Given the description of an element on the screen output the (x, y) to click on. 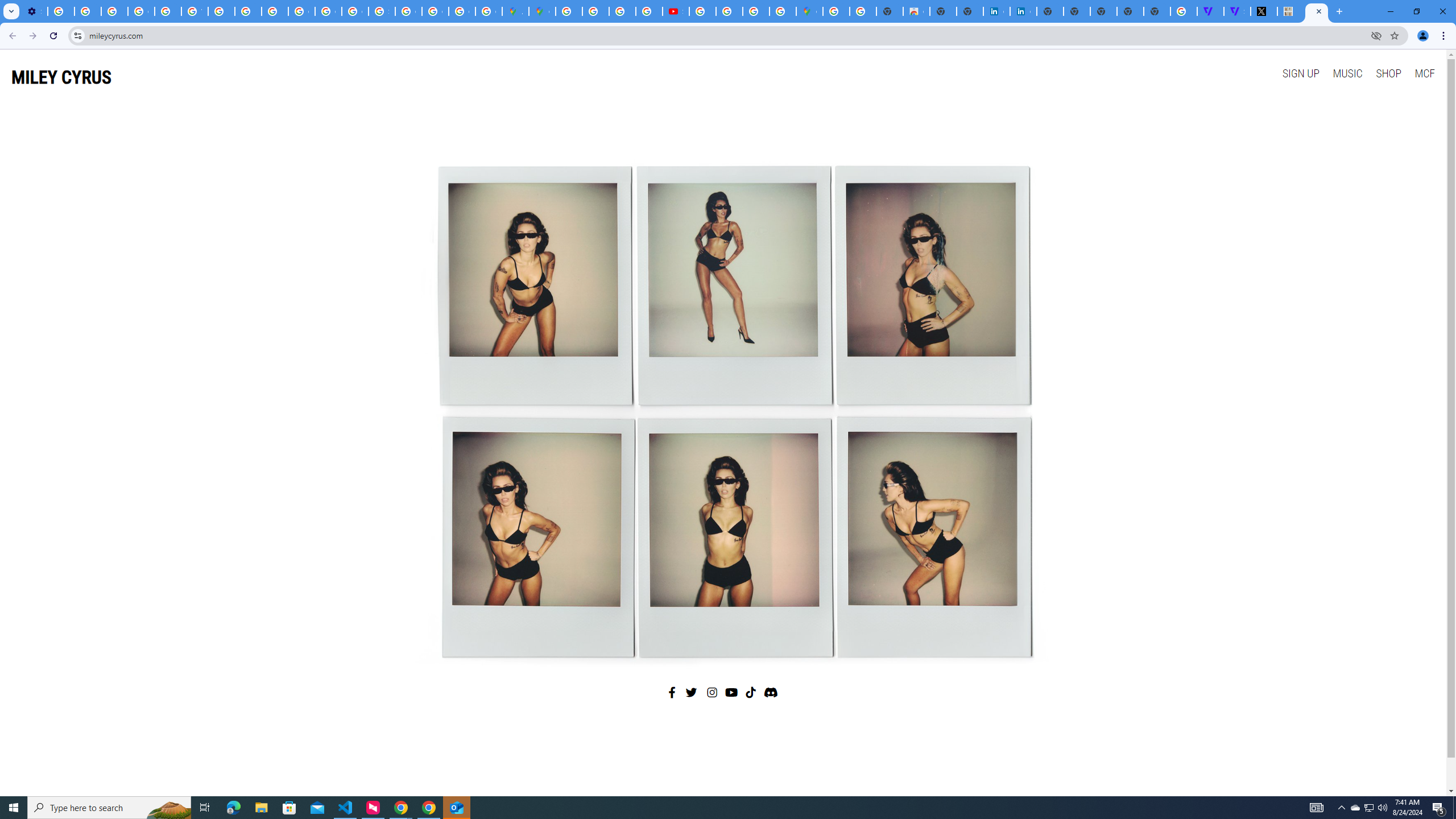
Privacy Help Center - Policies Help (622, 11)
MCF (1424, 73)
